Given the description of an element on the screen output the (x, y) to click on. 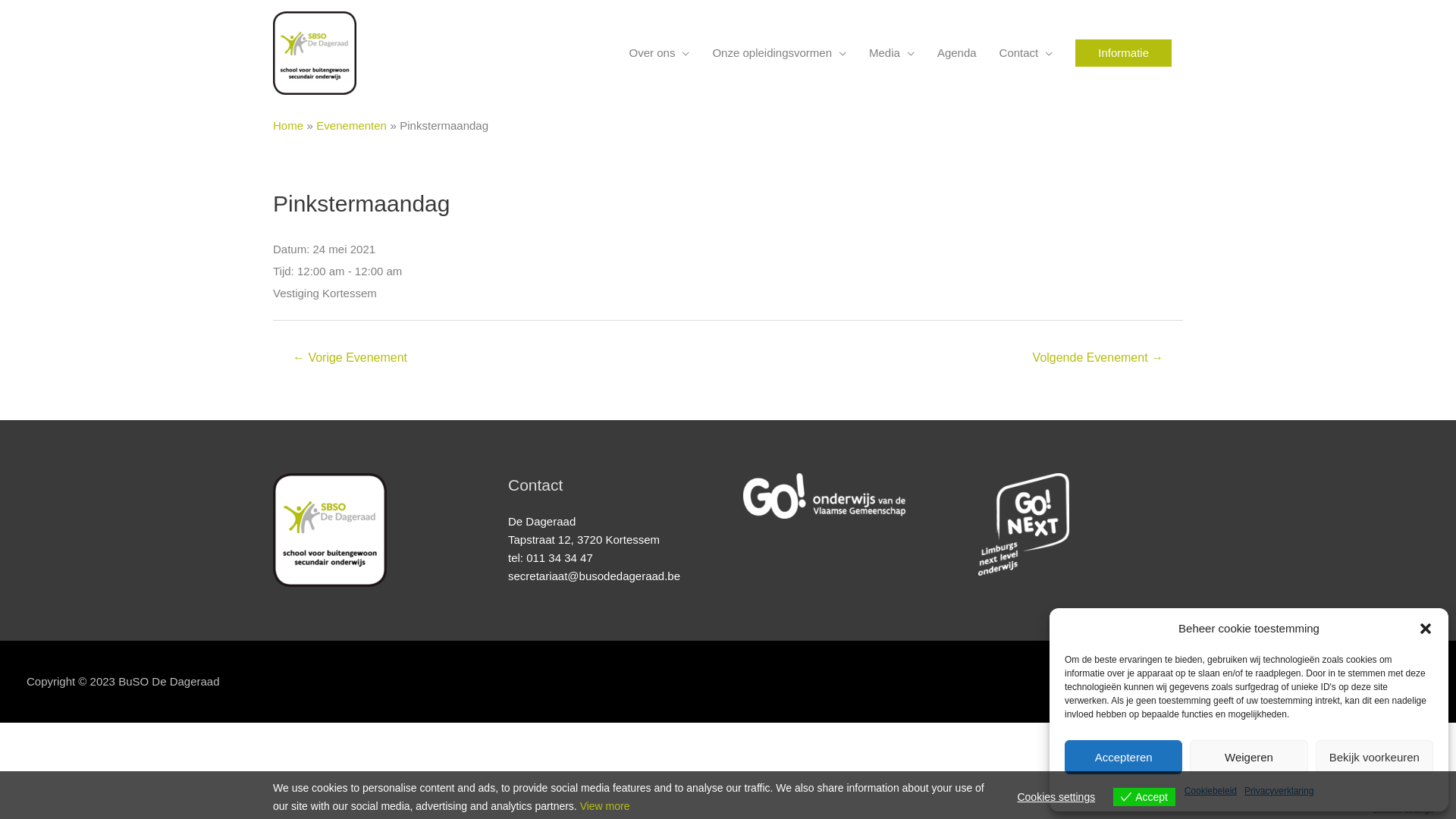
Accepteren Element type: text (1123, 757)
Cookiebeleid Element type: text (1210, 790)
Agenda Element type: text (956, 52)
View more Element type: text (605, 806)
Over ons Element type: text (659, 52)
Home Element type: text (288, 125)
Media Element type: text (891, 52)
Informatie Element type: text (1123, 52)
Bekijk voorkeuren Element type: text (1374, 757)
Evenementen Element type: text (351, 125)
Onze opleidingsvormen Element type: text (778, 52)
Weigeren Element type: text (1248, 757)
Contact Element type: text (1026, 52)
Privacyverklaring Element type: text (1278, 790)
